Given the description of an element on the screen output the (x, y) to click on. 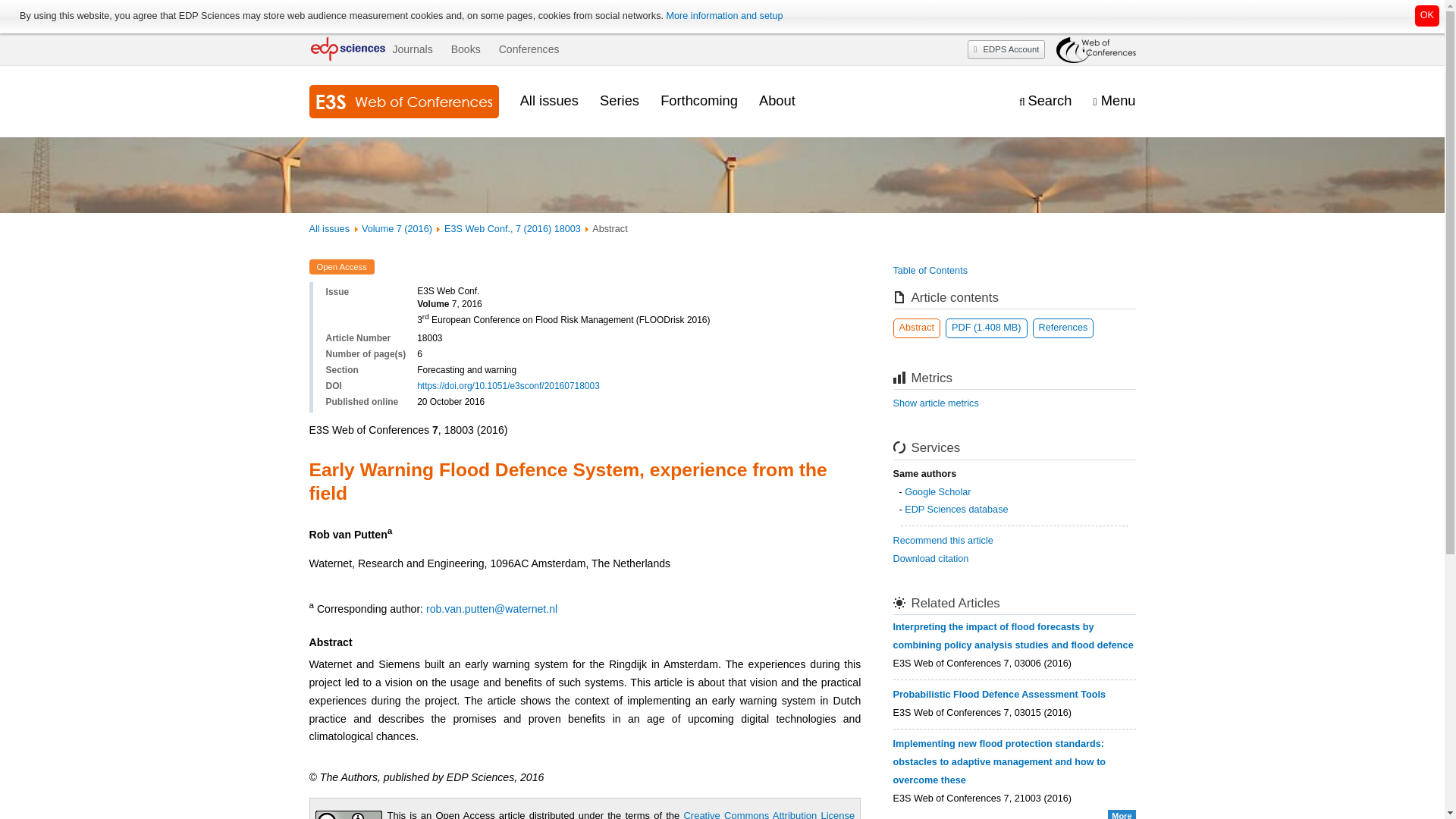
Books (465, 49)
More information and setup (724, 15)
OK (1427, 15)
Journal homepage (403, 101)
Abstract (916, 328)
Conferences (529, 49)
Journals (411, 49)
Click to close this notification (1427, 15)
Display the search engine (1045, 101)
